Given the description of an element on the screen output the (x, y) to click on. 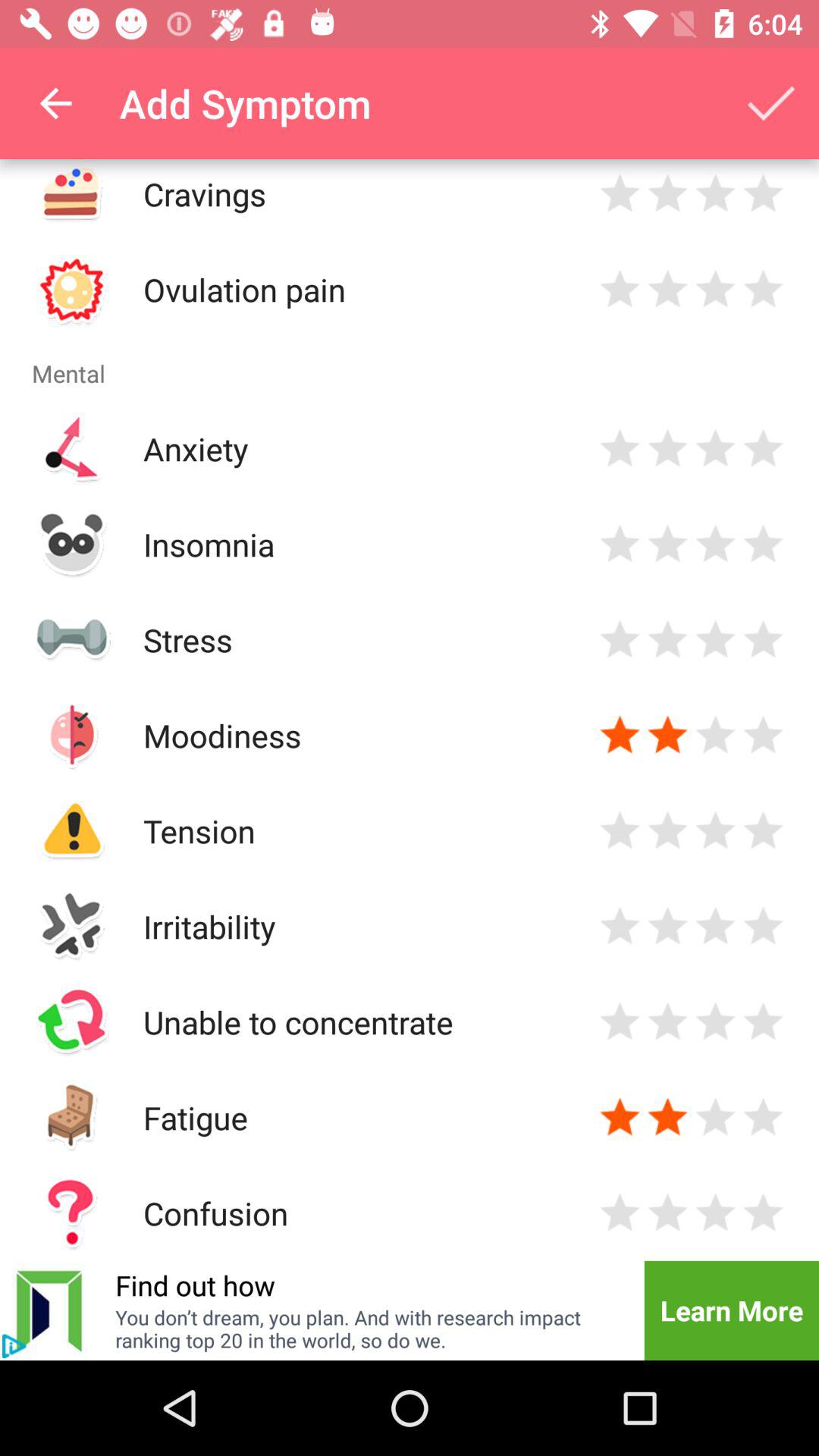
rate the amount of the symptom (667, 830)
